Given the description of an element on the screen output the (x, y) to click on. 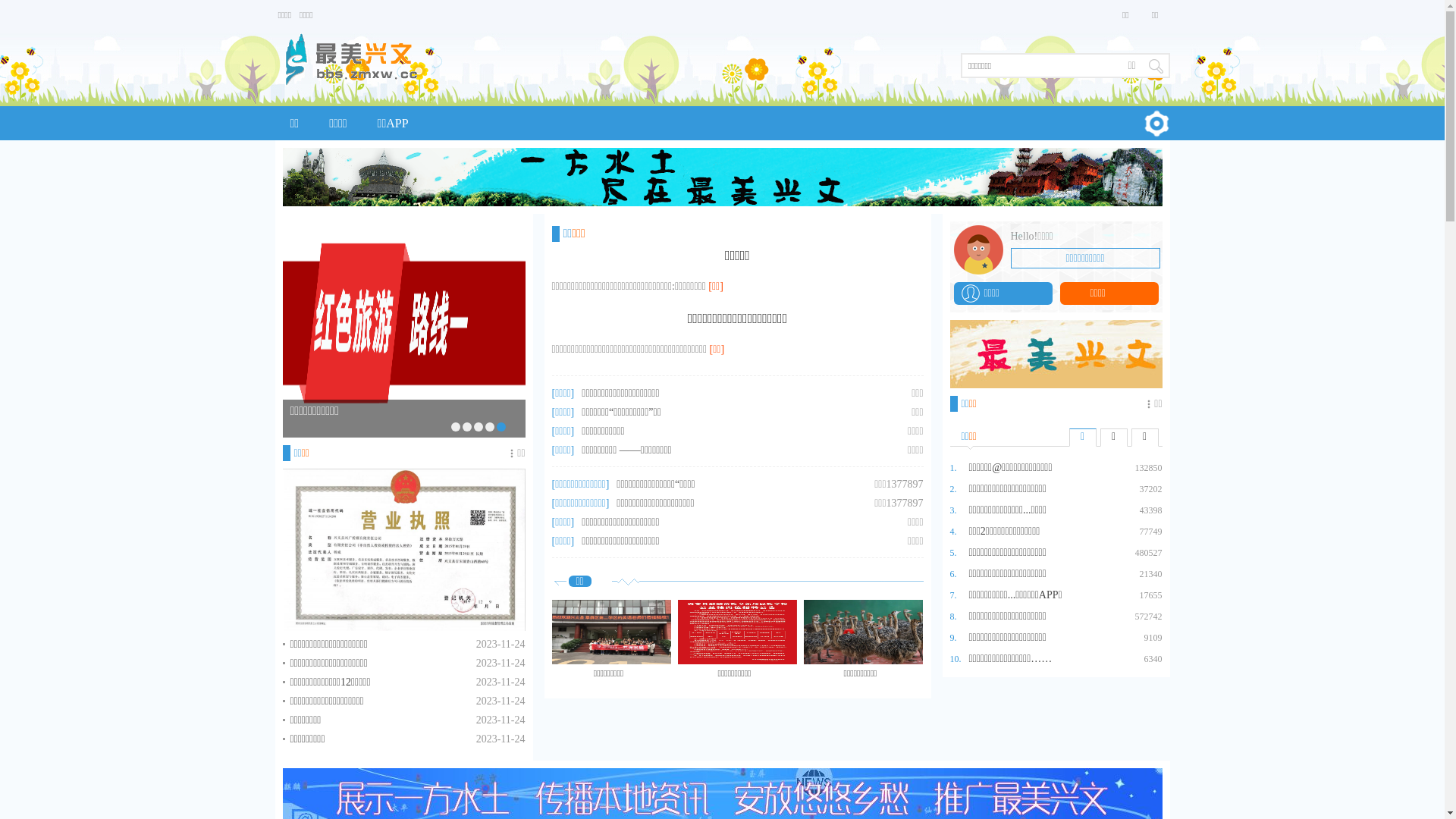
   Element type: text (1155, 65)
